Given the description of an element on the screen output the (x, y) to click on. 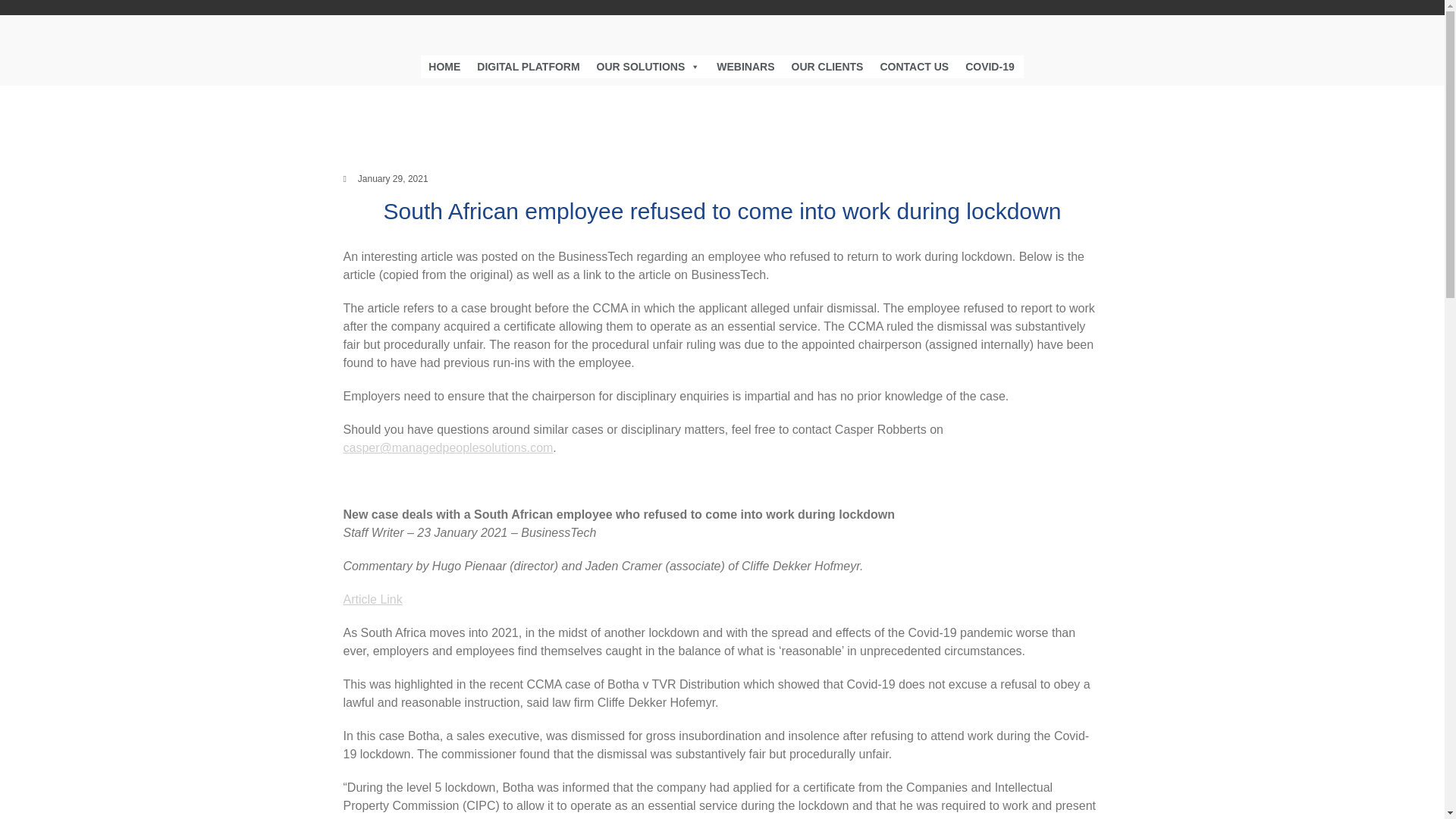
OUR CLIENTS (827, 65)
Managed People Solutions (808, 49)
DIGITAL PLATFORM (527, 65)
WEBINARS (745, 65)
CONTACT US (914, 65)
HOME (443, 65)
OUR SOLUTIONS (648, 65)
